Given the description of an element on the screen output the (x, y) to click on. 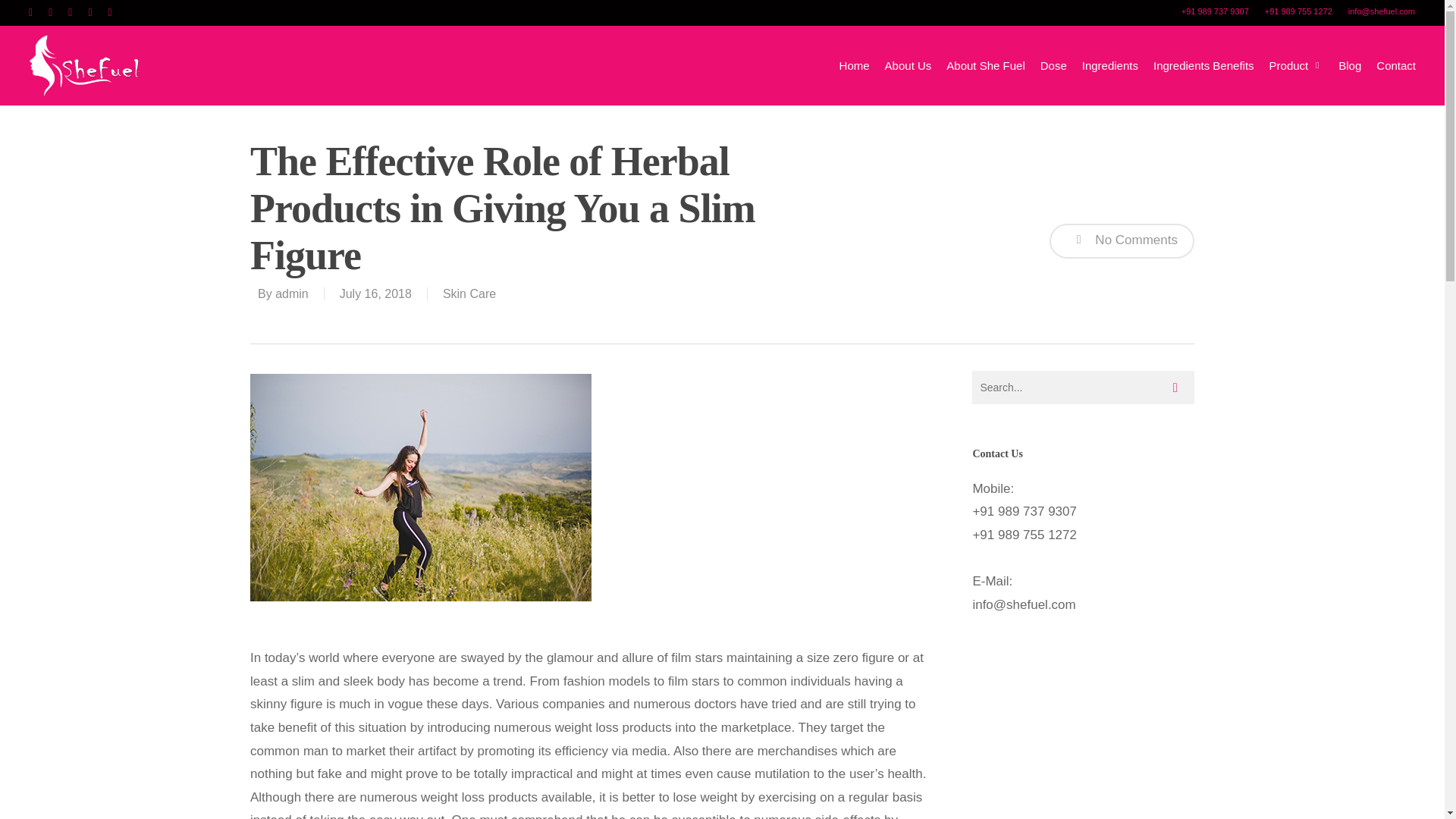
Product (1296, 65)
Home (854, 65)
Skin Care (469, 293)
Search for: (1082, 387)
Dose (1054, 65)
admin (291, 293)
About She Fuel (985, 65)
Blog (1349, 65)
Ingredients (1109, 65)
Ingredients Benefits (1203, 65)
Contact (1395, 65)
About Us (908, 65)
No Comments (1121, 240)
Posts by admin (291, 293)
